Given the description of an element on the screen output the (x, y) to click on. 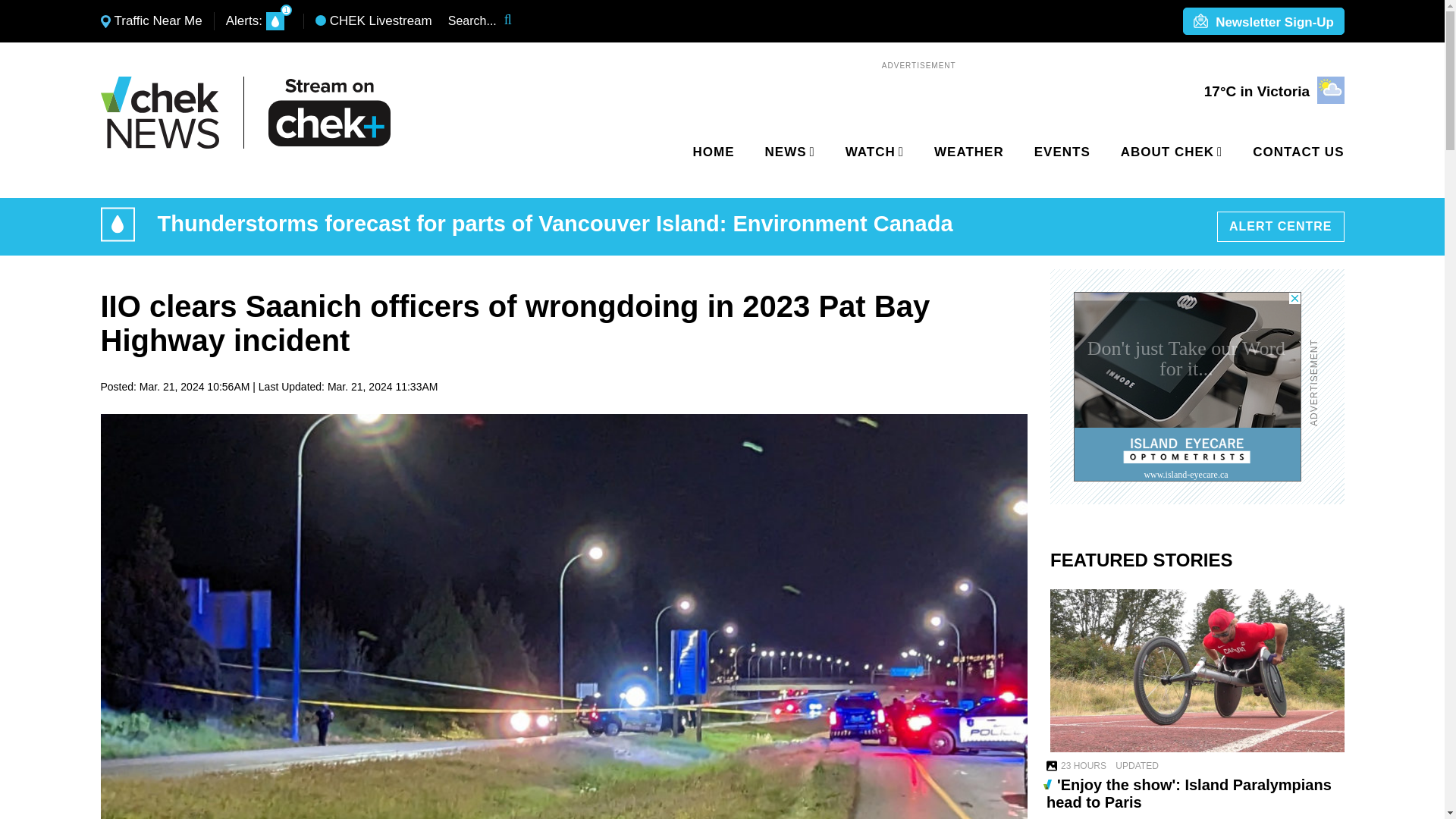
Search (518, 21)
NEWS (787, 152)
3rd party ad content (1187, 386)
HOME (714, 152)
1 (274, 21)
Newsletter Sign-Up (1262, 22)
CHEK Livestream (373, 20)
Traffic Near Me (151, 20)
